Given the description of an element on the screen output the (x, y) to click on. 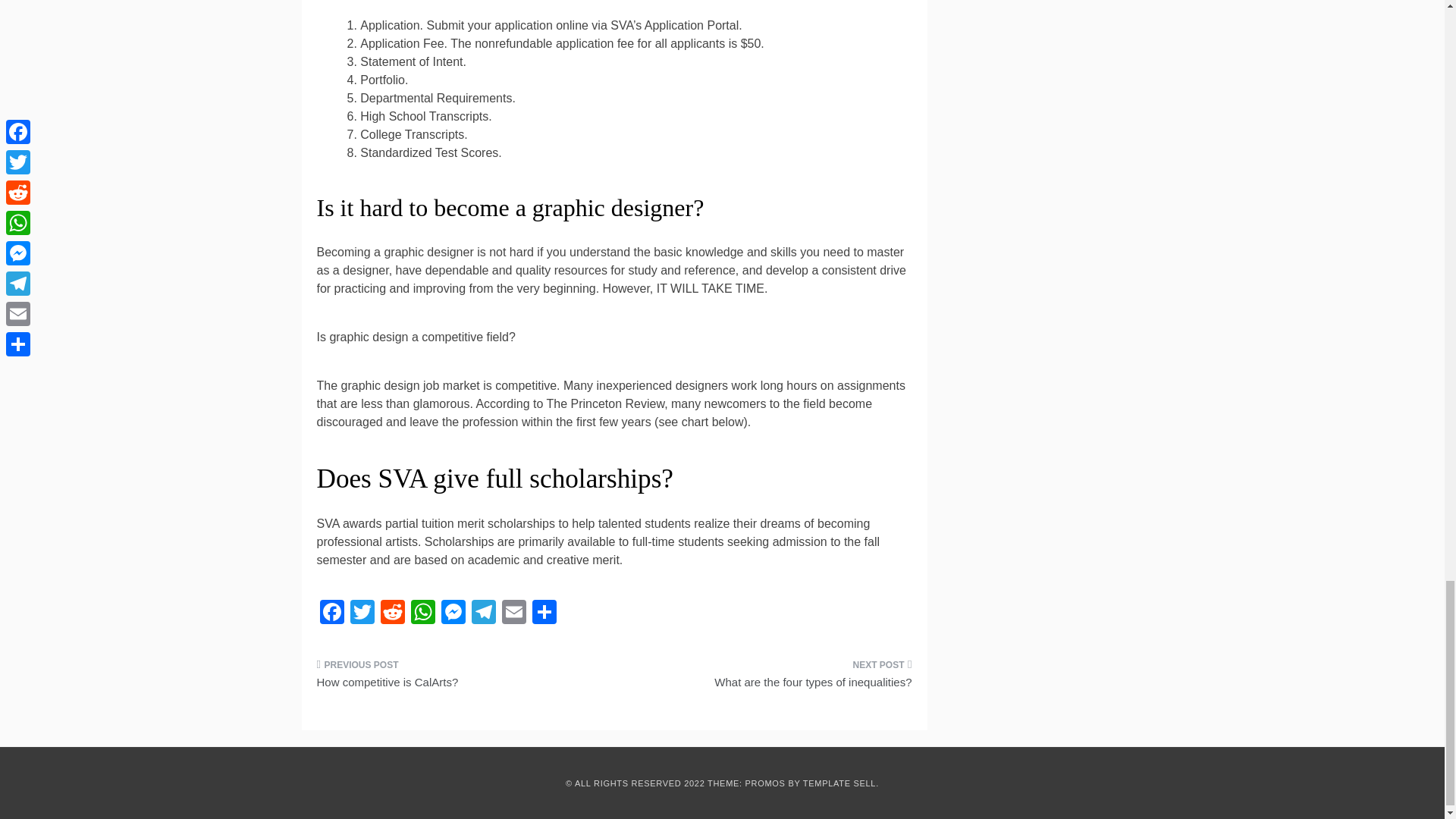
Facebook (332, 613)
Reddit (392, 613)
Reddit (392, 613)
WhatsApp (422, 613)
TEMPLATE SELL (839, 782)
Messenger (453, 613)
WhatsApp (422, 613)
Telegram (483, 613)
Twitter (362, 613)
What are the four types of inequalities? (769, 678)
How competitive is CalArts? (460, 678)
Email (514, 613)
Facebook (332, 613)
Telegram (483, 613)
Email (514, 613)
